Given the description of an element on the screen output the (x, y) to click on. 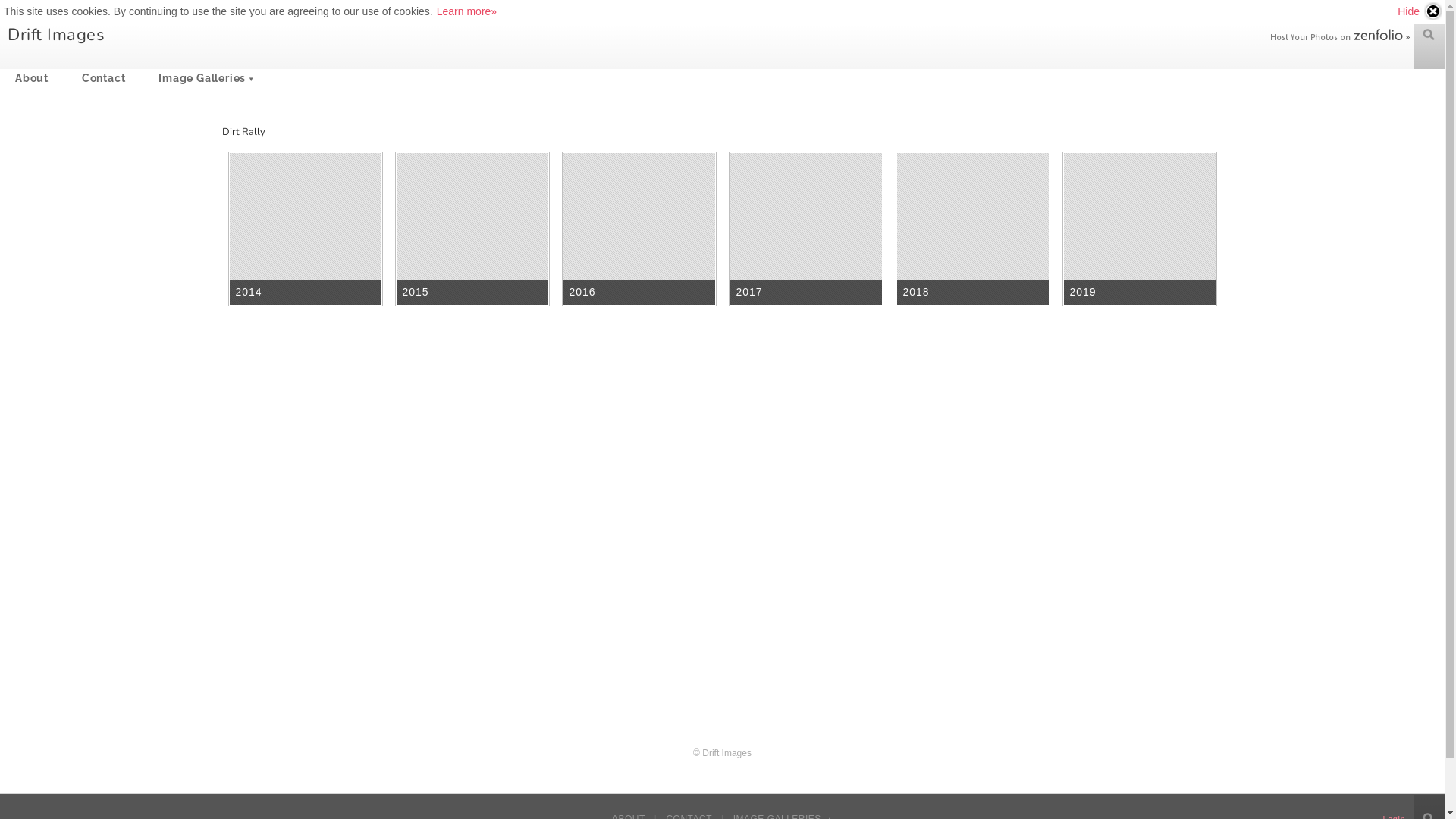
2014 Element type: text (305, 228)
Contact Element type: text (103, 78)
Drift Images Element type: text (56, 34)
Hide Element type: text (1419, 11)
2019 Element type: text (1139, 228)
2018 Element type: text (972, 228)
About Element type: text (31, 78)
Host Your Photos on Zenfolio Element type: hover (1338, 36)
2016 Element type: text (638, 228)
2017 Element type: text (805, 228)
2015 Element type: text (472, 228)
